Given the description of an element on the screen output the (x, y) to click on. 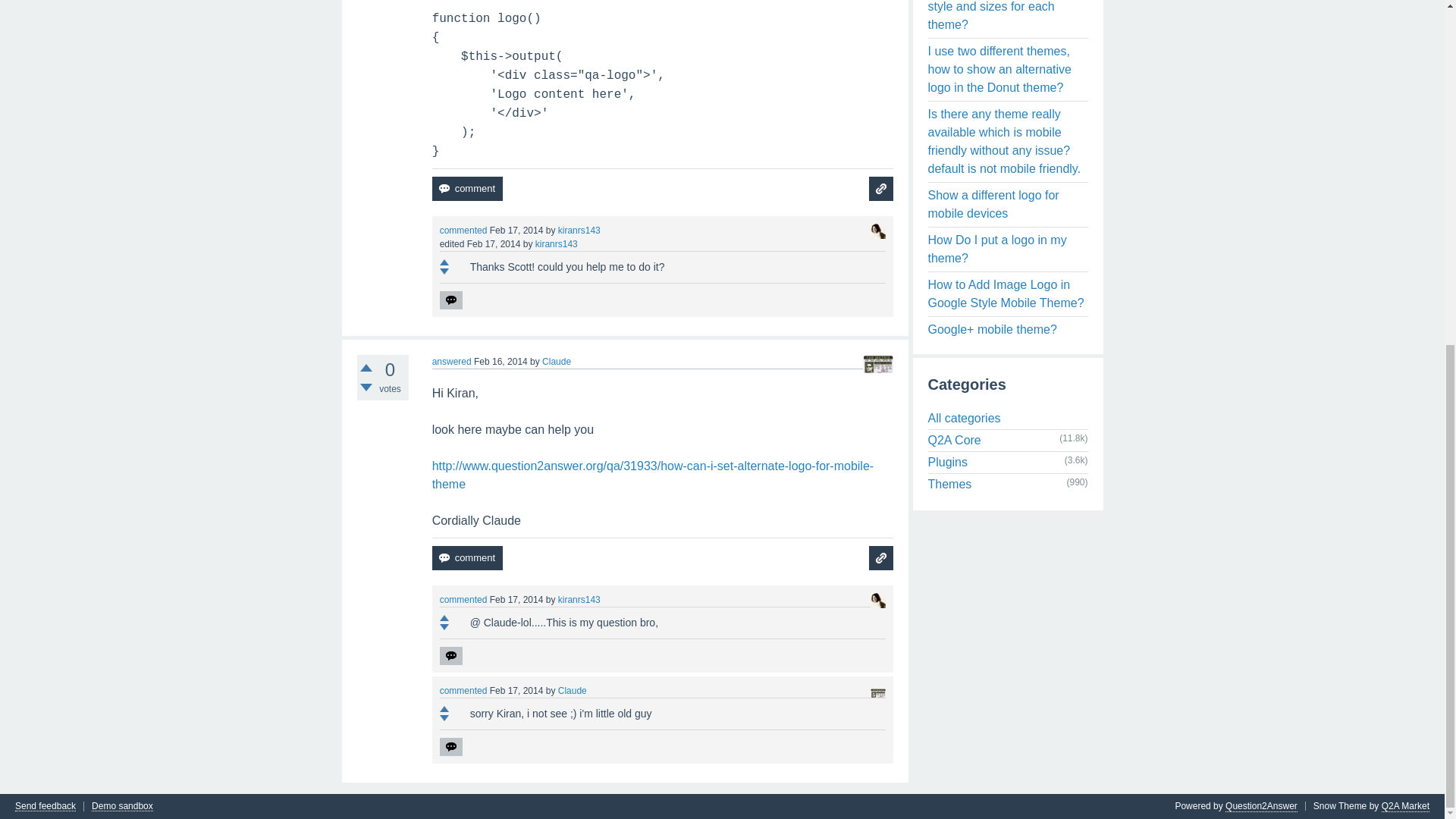
reply (451, 656)
Click to vote down (443, 271)
Ask a new question relating to this answer (881, 188)
reply (451, 300)
ask related question (881, 558)
comment (467, 558)
Click to vote down (365, 387)
Click to vote up (365, 367)
ask related question (881, 188)
comment (467, 188)
Add a comment on this answer (467, 188)
Reply to this comment (451, 300)
Click to vote up (443, 262)
